Given the description of an element on the screen output the (x, y) to click on. 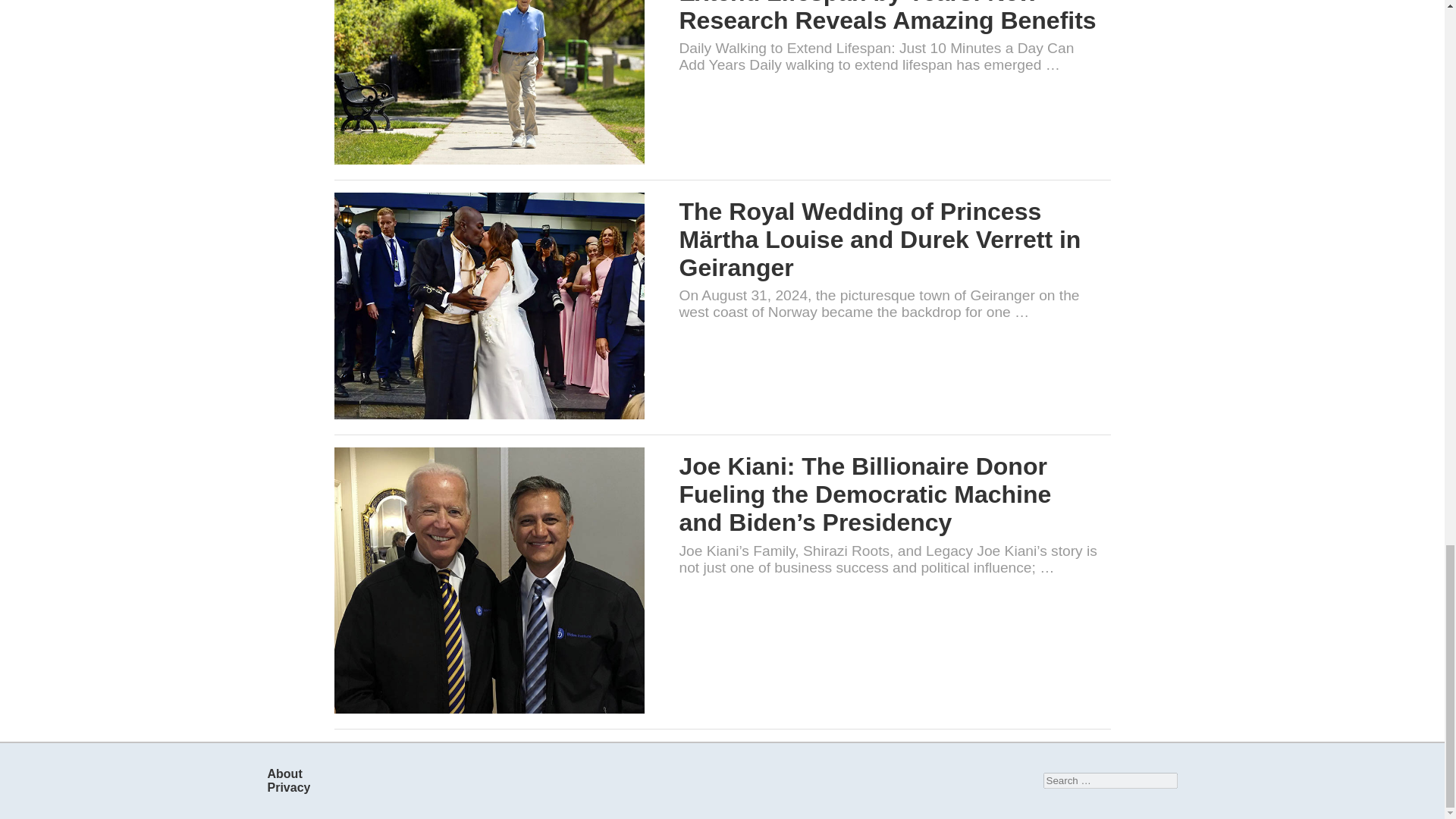
About (283, 773)
Privacy (288, 787)
